Given the description of an element on the screen output the (x, y) to click on. 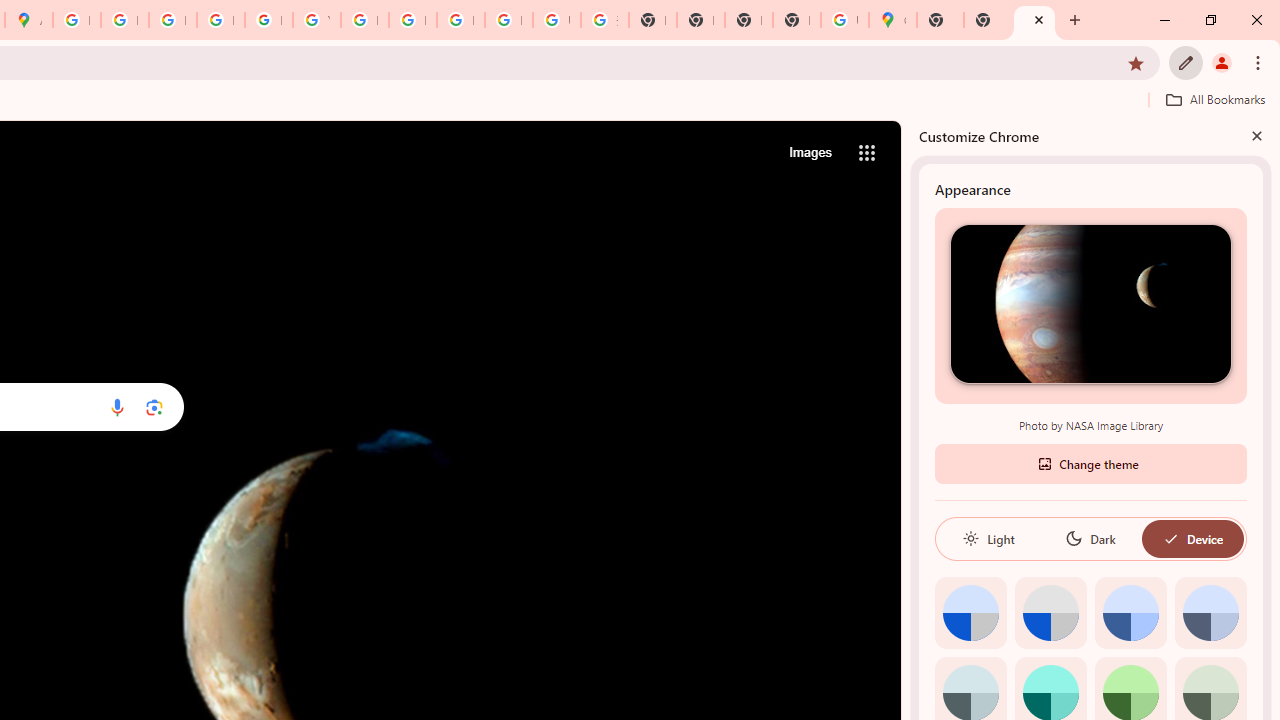
Grey default color (1050, 612)
Device (1192, 538)
Google Maps (892, 20)
New Tab (987, 20)
Use Google Maps in Space - Google Maps Help (844, 20)
Photo by NASA Image Library (1090, 303)
Cool grey (1210, 612)
